Given the description of an element on the screen output the (x, y) to click on. 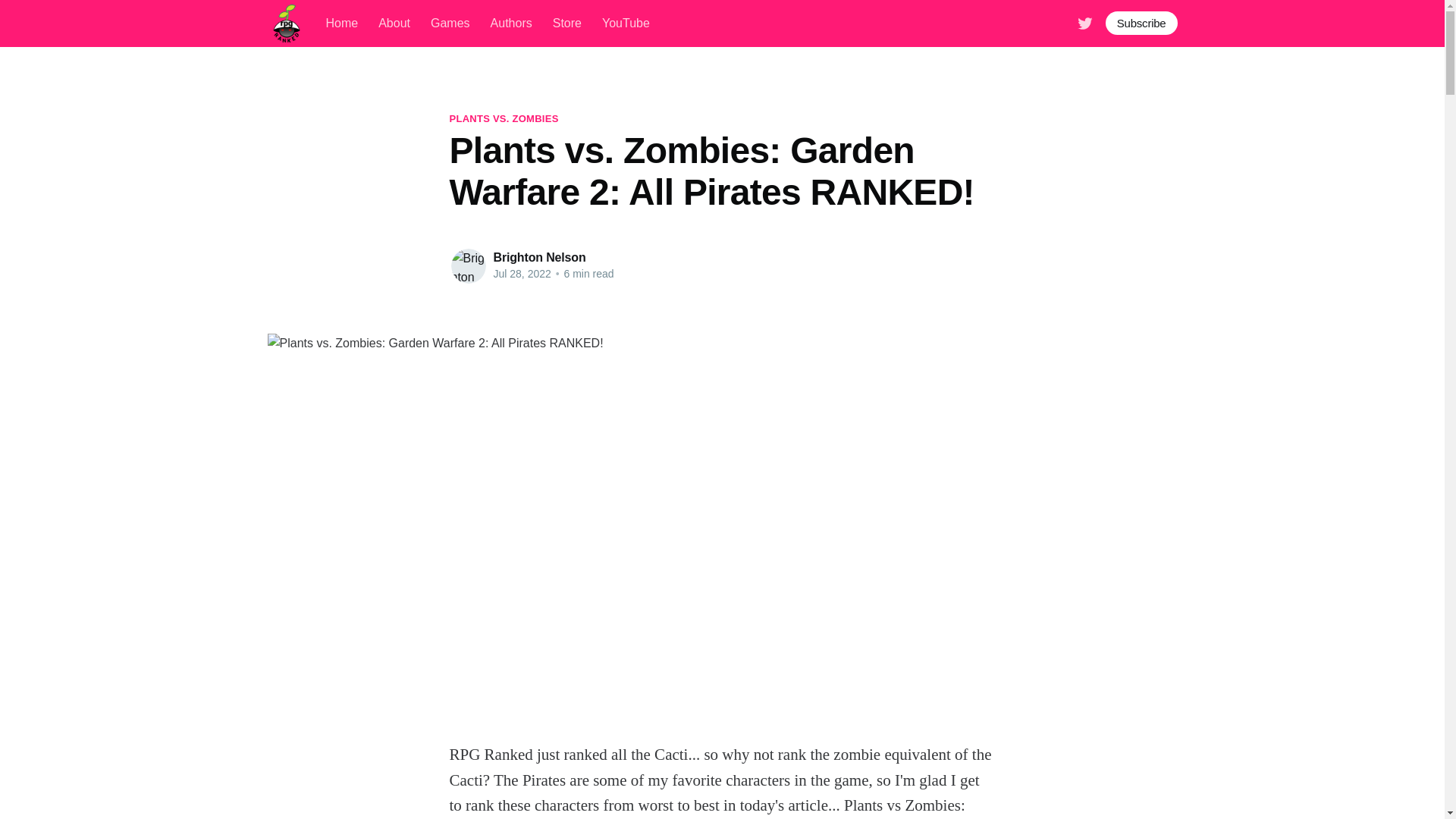
PLANTS VS. ZOMBIES (502, 119)
Home (342, 22)
YouTube (625, 22)
Games (450, 22)
Brighton Nelson (539, 256)
About (394, 22)
Twitter (1085, 21)
Subscribe (1141, 23)
Store (566, 22)
Authors (511, 22)
